Given the description of an element on the screen output the (x, y) to click on. 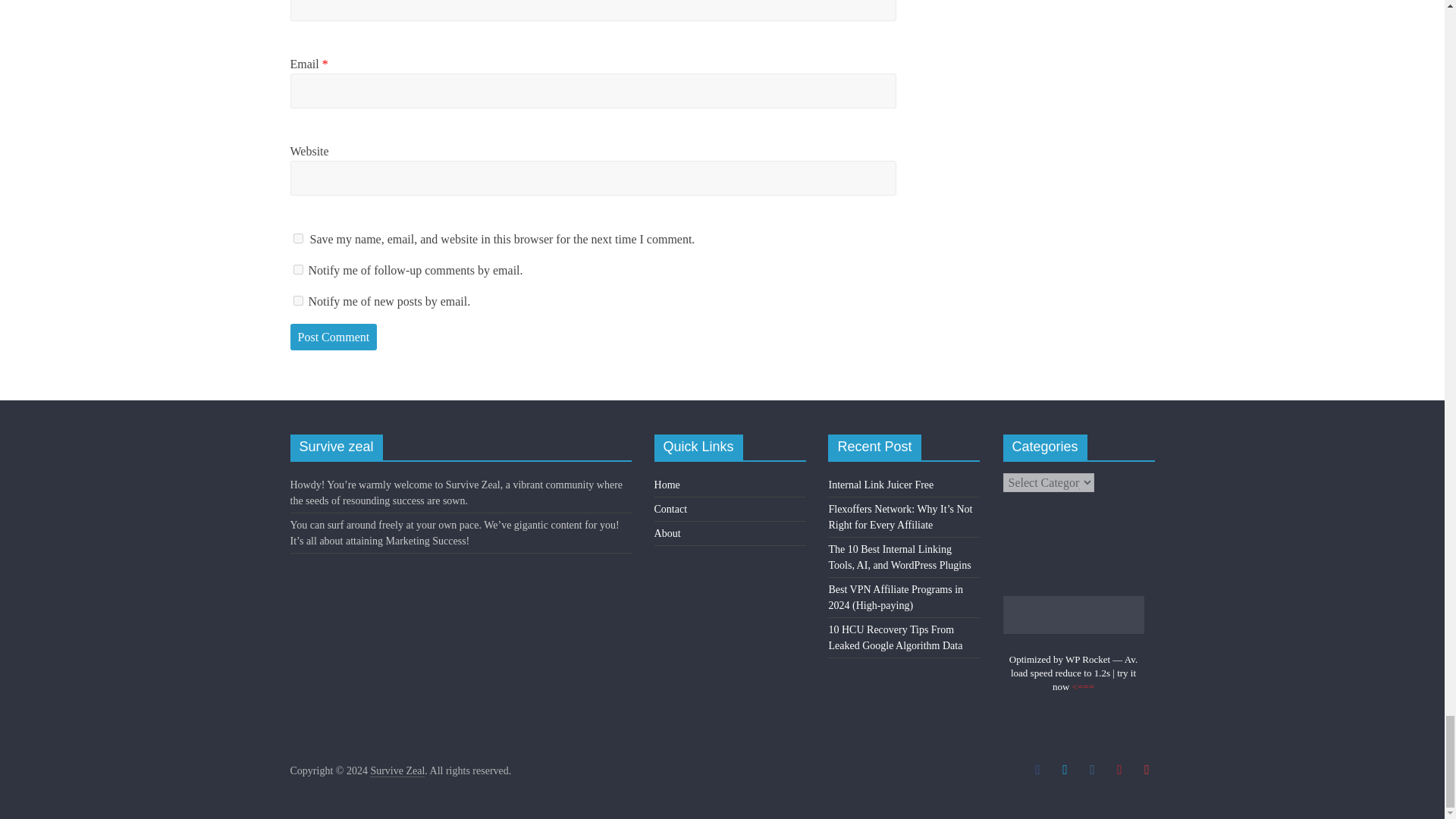
Survive Zeal (397, 770)
subscribe (297, 269)
yes (297, 238)
subscribe (297, 300)
Post Comment (333, 337)
Post Comment (333, 337)
